Given the description of an element on the screen output the (x, y) to click on. 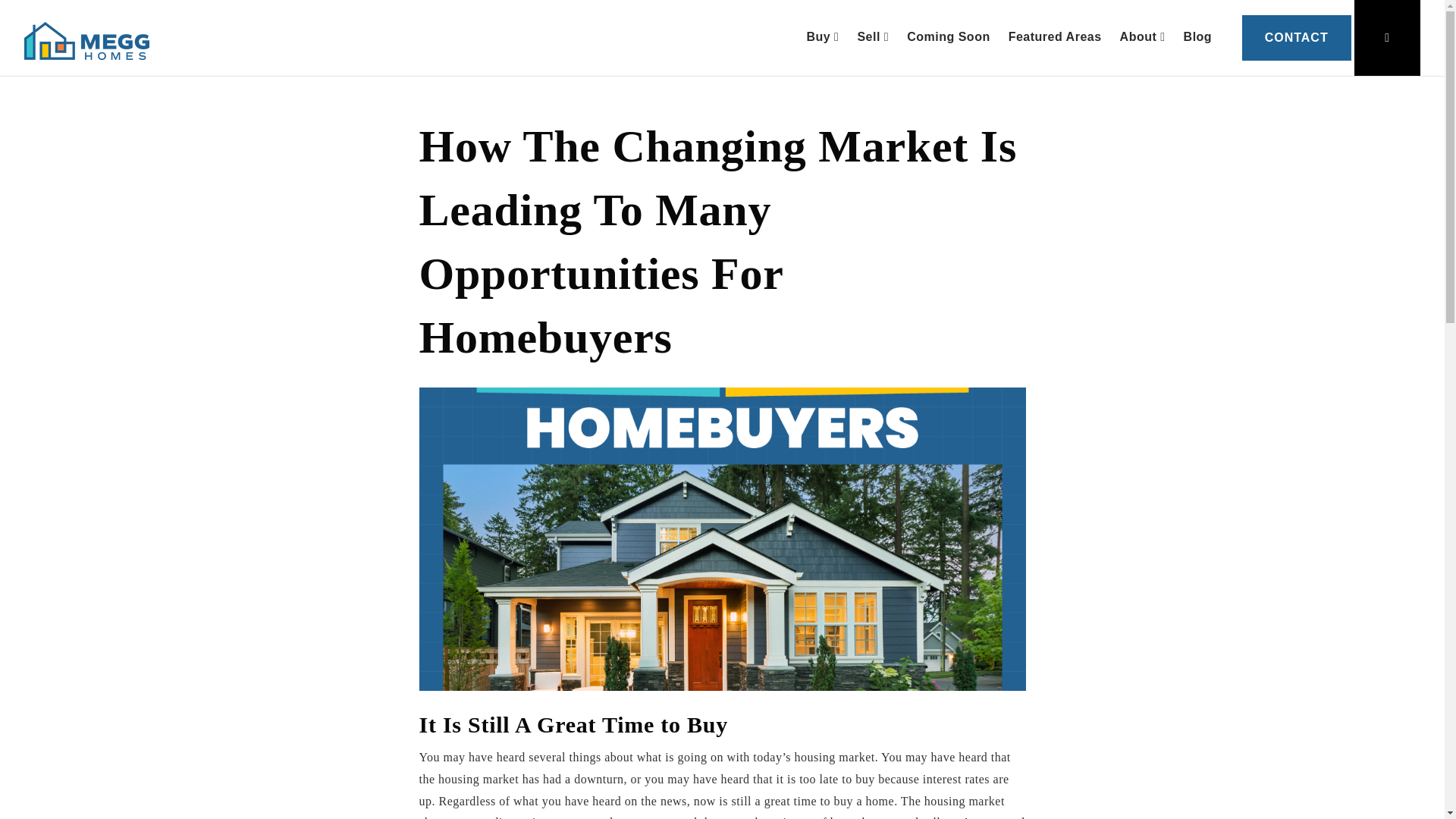
Buy (821, 37)
Blog (1197, 37)
Featured Areas (1054, 37)
About (1142, 37)
Sell (872, 37)
CONTACT (1296, 37)
Coming Soon (948, 37)
